Given the description of an element on the screen output the (x, y) to click on. 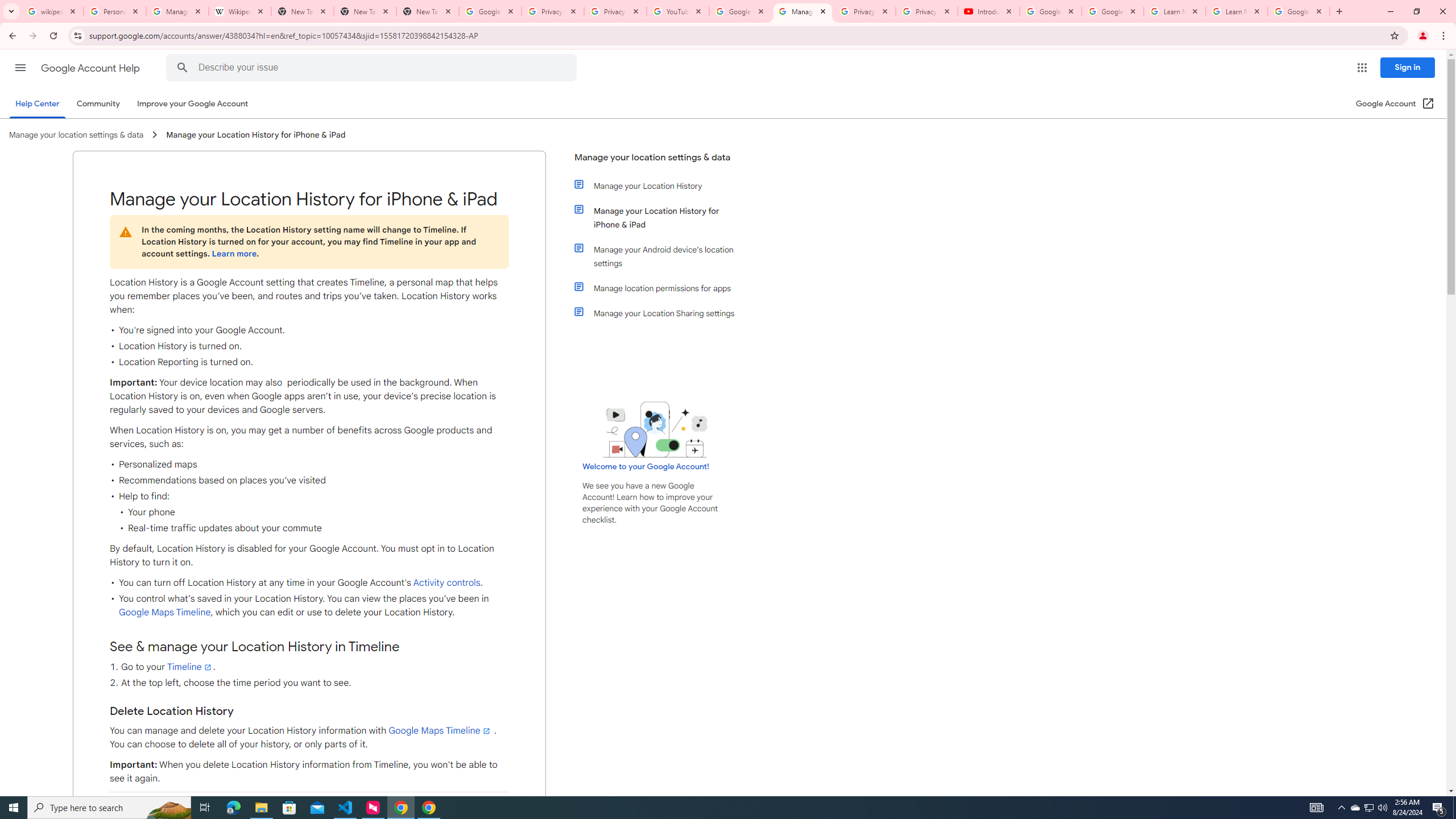
Learn more (233, 253)
Manage your location settings & data (656, 161)
Manage location permissions for apps (661, 288)
New Tab (427, 11)
Learning Center home page image (655, 429)
Community (97, 103)
Improve your Google Account (192, 103)
